Given the description of an element on the screen output the (x, y) to click on. 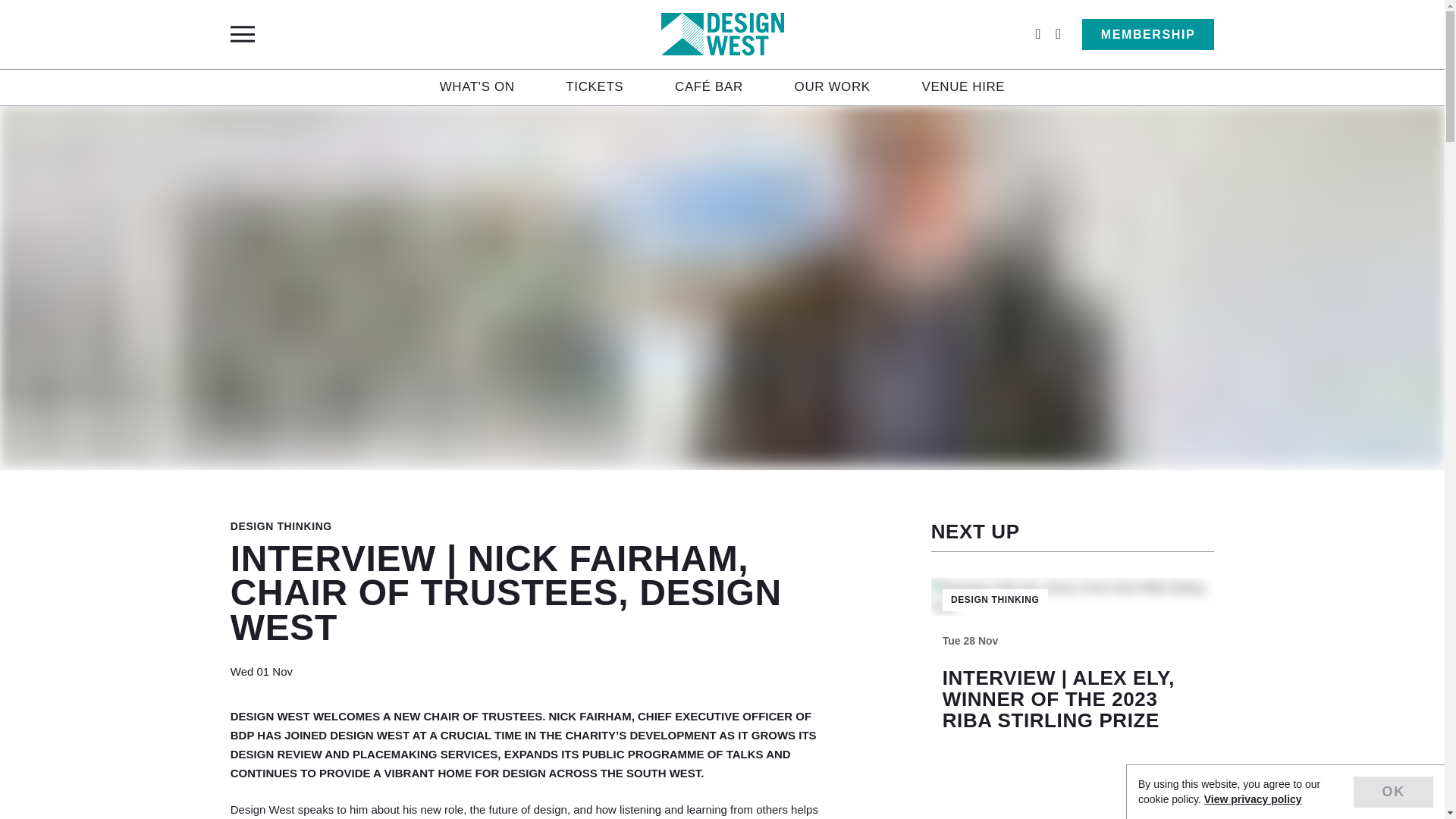
WHAT'S ON (477, 87)
Design West (722, 34)
TICKETS (594, 87)
VENUE HIRE (962, 87)
Our Work (832, 87)
What's On (477, 87)
Tickets (594, 87)
Venue Hire (962, 87)
MEMBERSHIP (1147, 34)
Membership (1147, 34)
